Given the description of an element on the screen output the (x, y) to click on. 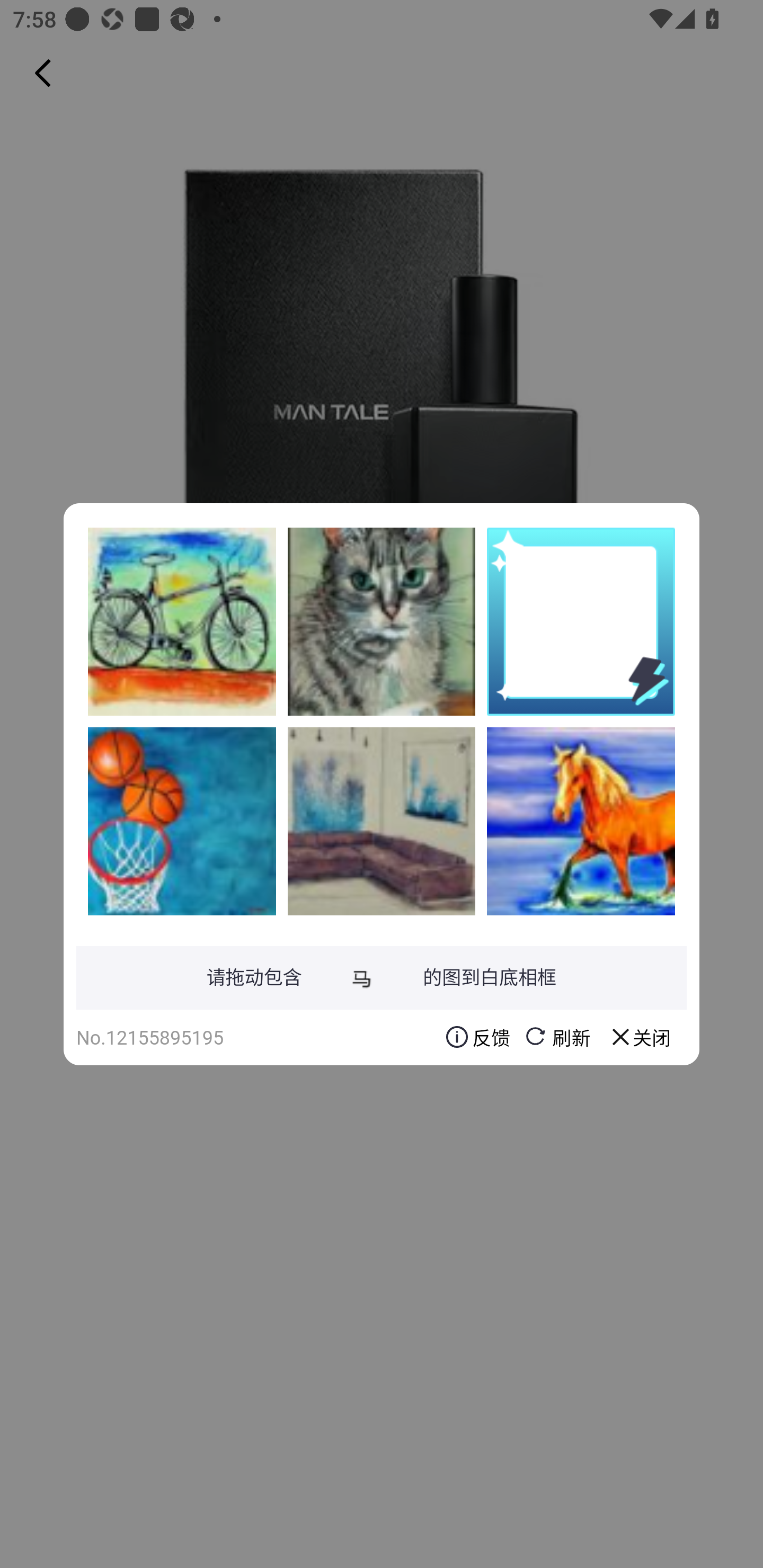
IXT+MWrv0B6Vjriy3E8ef4ES8k4pBNjqKcG1tbX4J (381, 621)
JCPZUXmoVVaHDWvb25hcYCs5PoWOgR (381, 820)
KIM8k5XL (580, 820)
